Given the description of an element on the screen output the (x, y) to click on. 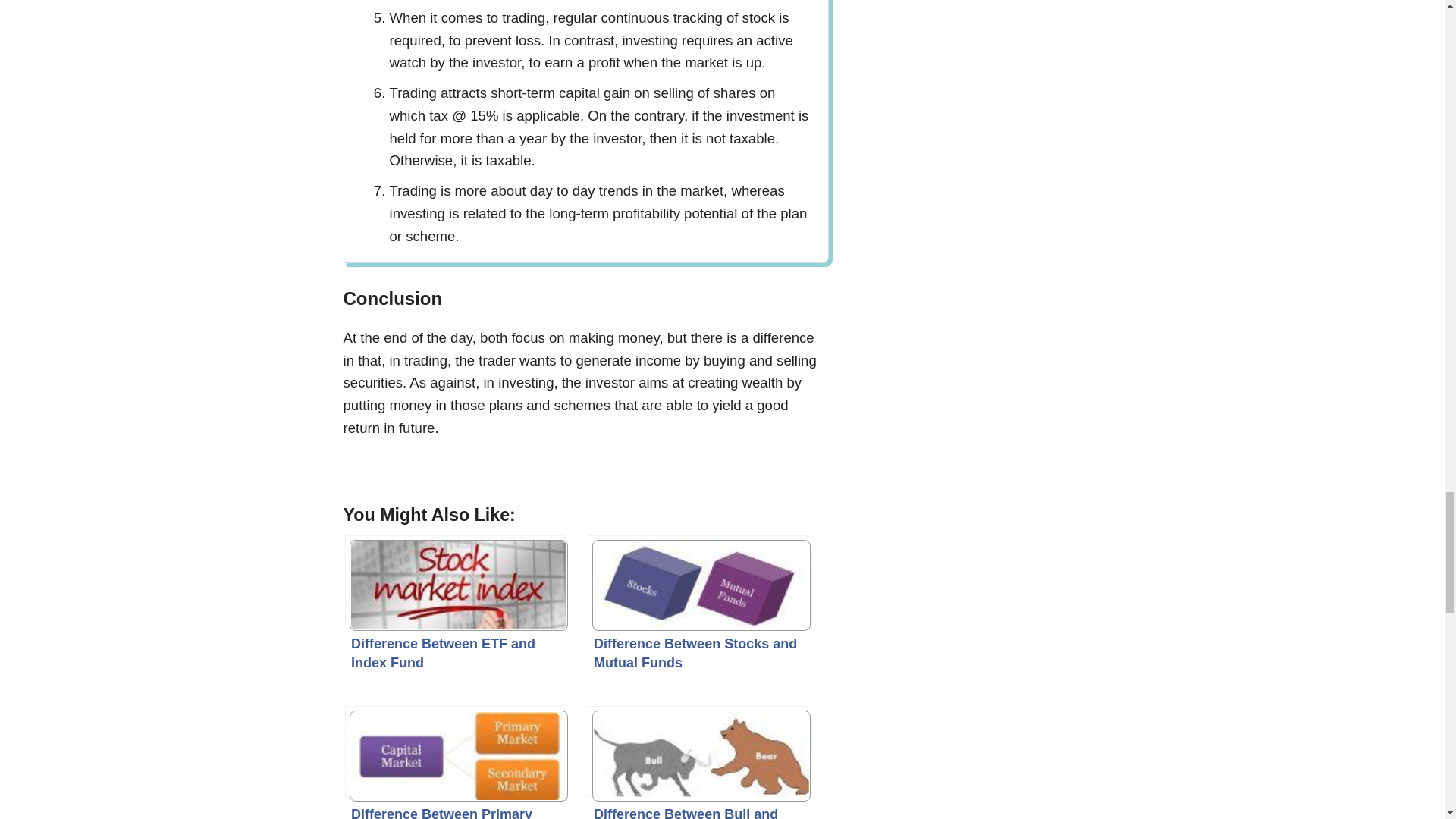
Difference Between ETF and Index Fund (454, 580)
Difference Between Stocks and Mutual Funds (698, 580)
Difference Between Stocks and Mutual Funds (698, 580)
Difference Between Bull and Bear Market (698, 750)
Difference Between ETF and Index Fund (454, 580)
Difference Between Primary Market and Secondary Market (454, 750)
Difference Between Bull and Bear Market (698, 750)
Difference Between Primary Market and Secondary Market (454, 750)
